Given the description of an element on the screen output the (x, y) to click on. 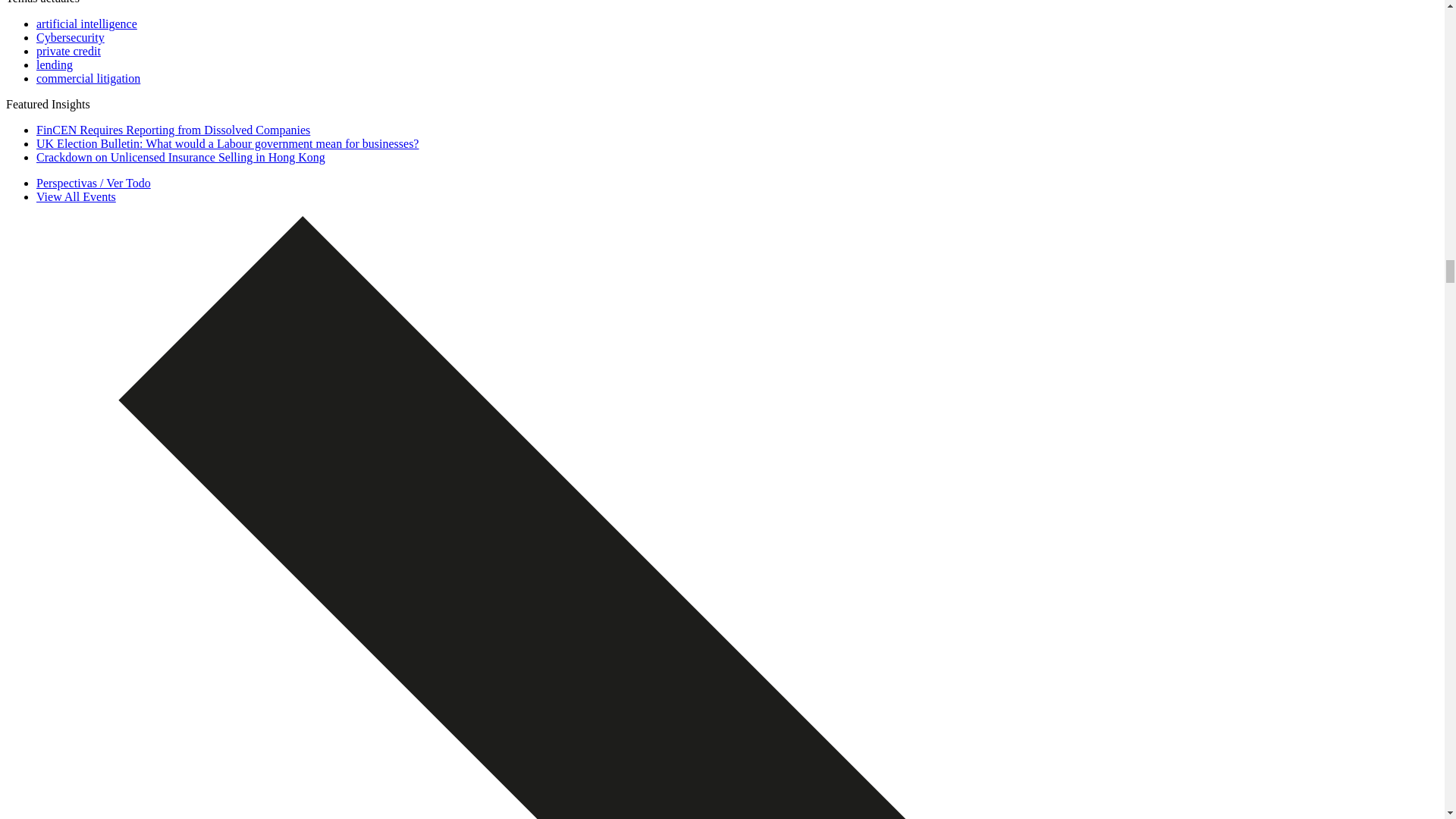
lending (54, 64)
Crackdown on Unlicensed Insurance Selling in Hong Kong (180, 156)
FinCEN Requires Reporting from Dissolved Companies (173, 129)
private credit (68, 51)
commercial litigation (87, 78)
Cybersecurity (70, 37)
View All Events (76, 196)
artificial intelligence (86, 23)
